Given the description of an element on the screen output the (x, y) to click on. 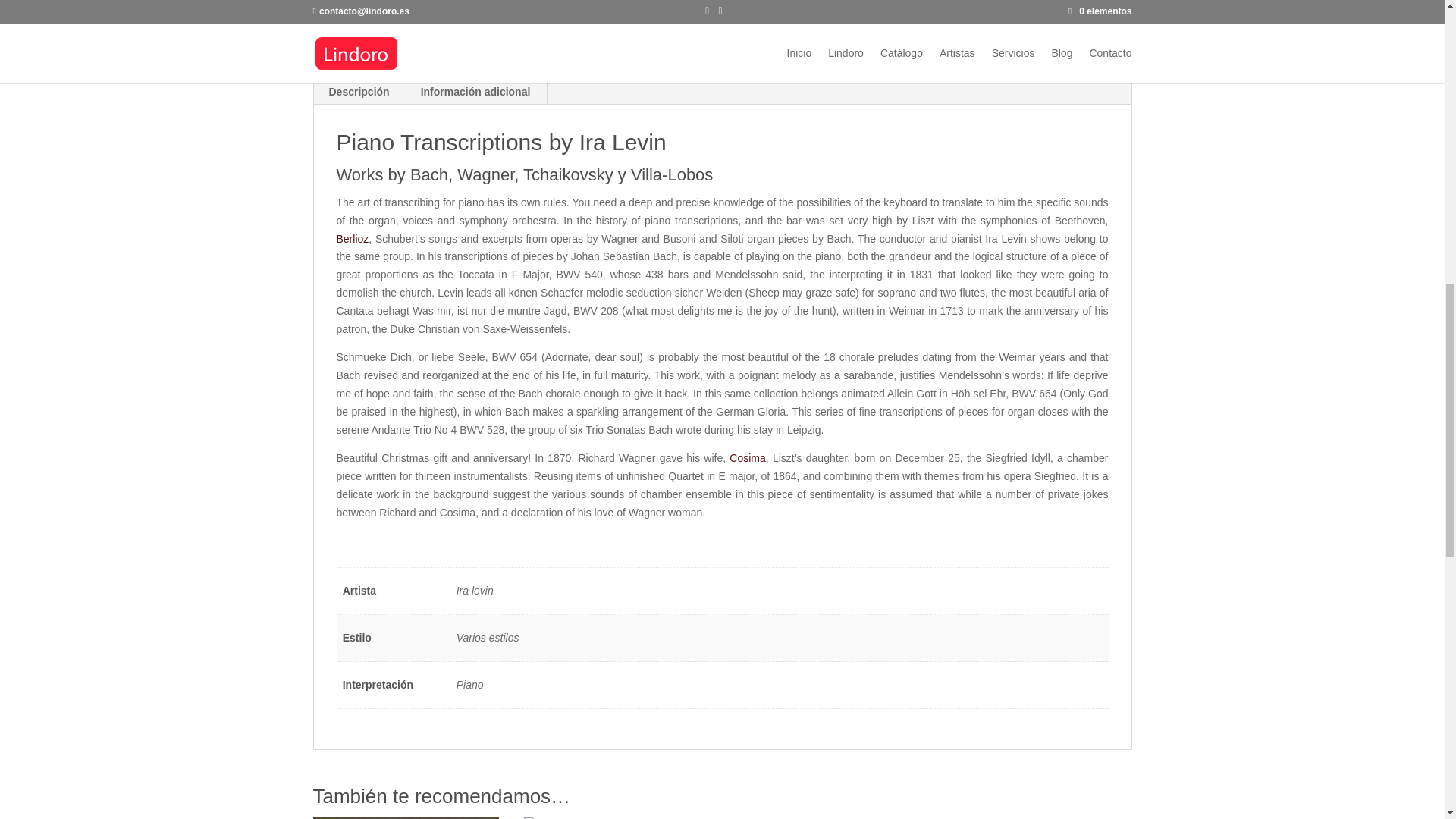
Cosima (747, 458)
Wagner (1010, 47)
Tchaikovsky (831, 47)
Berlioz (352, 238)
Ira Levin (887, 29)
Tweet (756, 1)
Bach (1074, 29)
Ira Levin (921, 38)
Varios estilos (978, 29)
Varios estilos (895, 47)
